Given the description of an element on the screen output the (x, y) to click on. 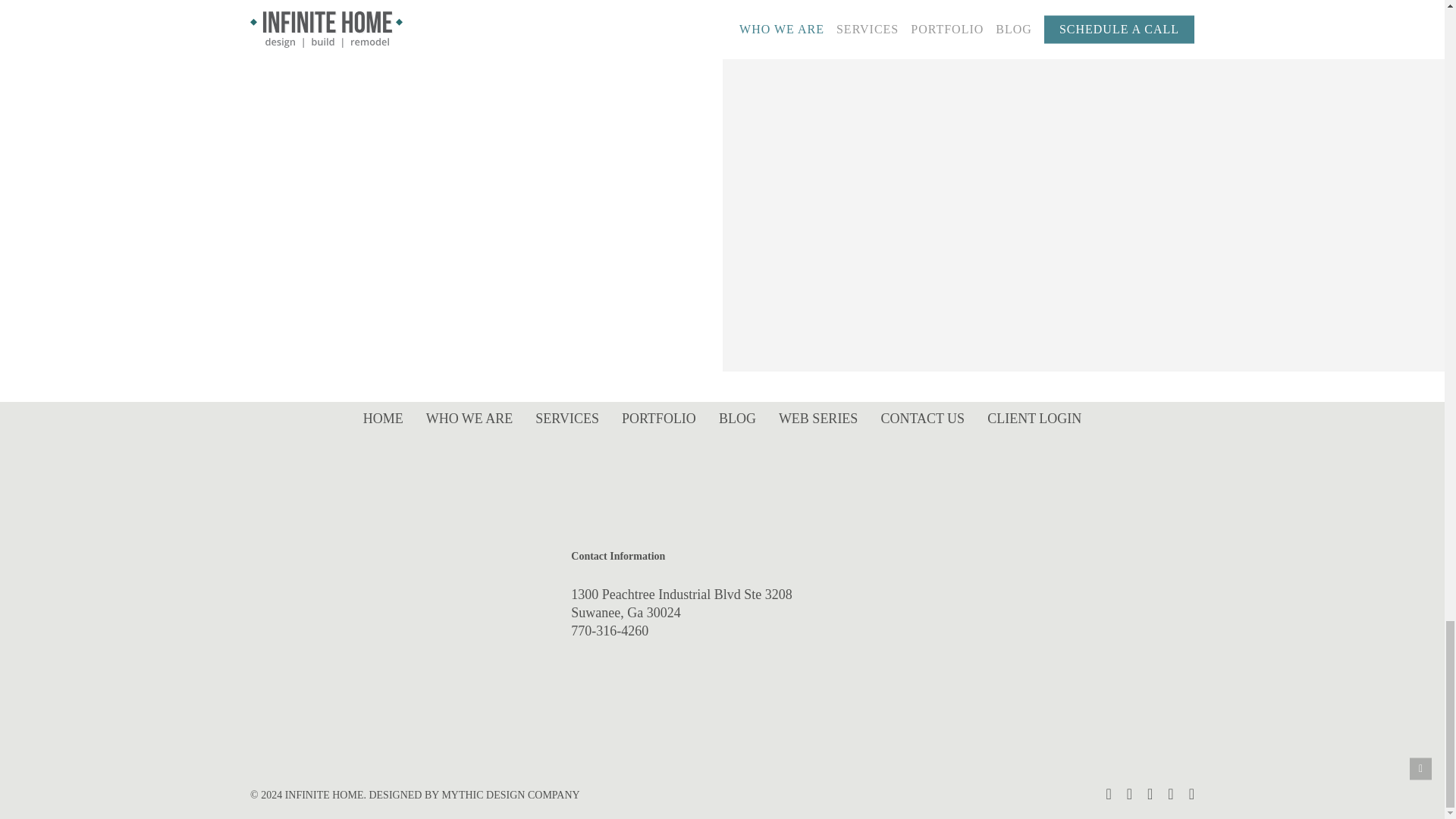
SERVICES (567, 418)
WEB SERIES (818, 418)
PORTFOLIO (658, 418)
HOME (383, 418)
CLIENT LOGIN (1034, 418)
CONTACT US (922, 418)
WHO WE ARE (469, 418)
BLOG (737, 418)
